Given the description of an element on the screen output the (x, y) to click on. 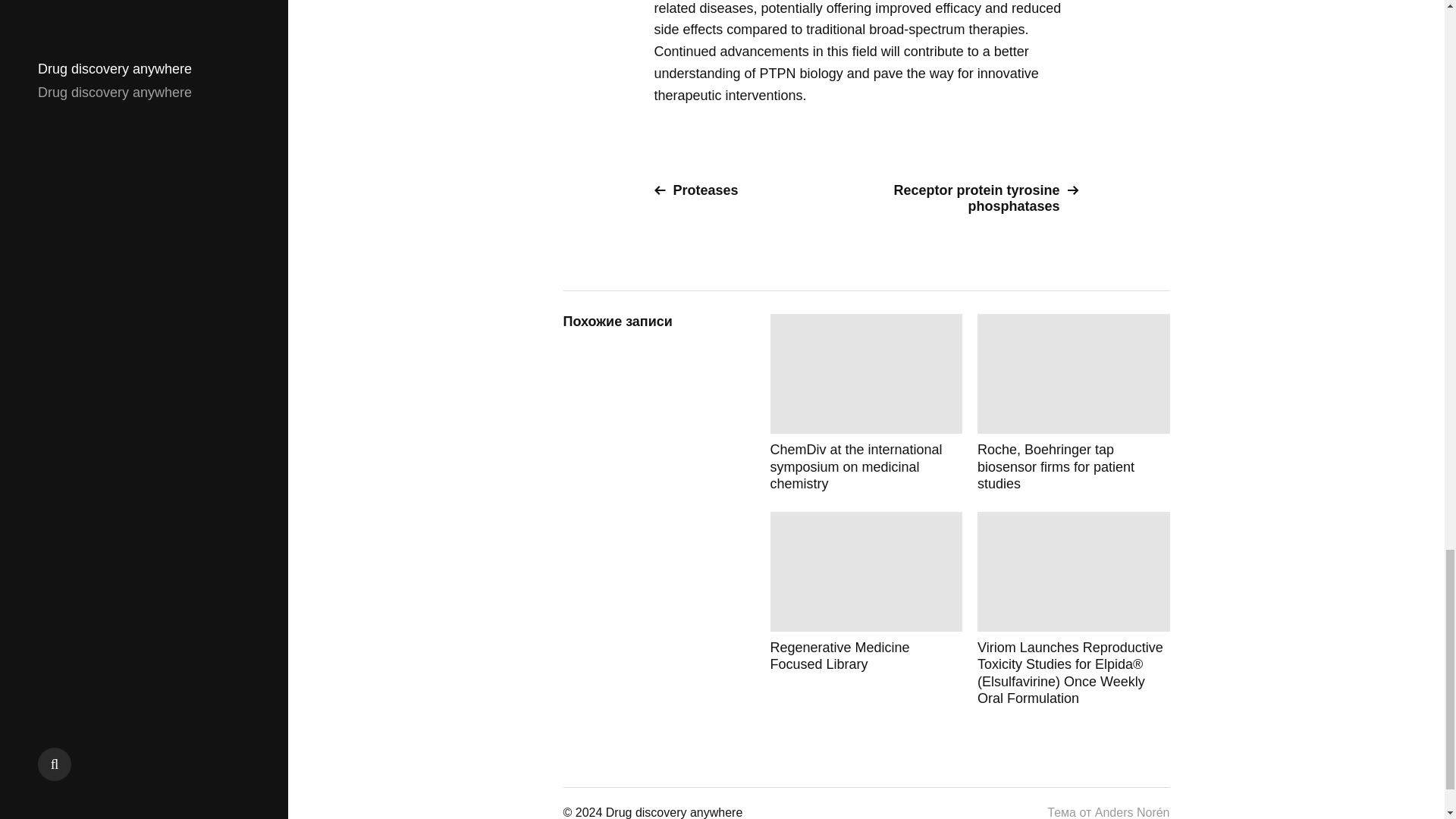
Regenerative Medicine Focused Library (866, 609)
Proteases (753, 190)
Roche, Boehringer tap biosensor firms for patient studies (1073, 403)
Receptor protein tyrosine phosphatases (977, 198)
